Given the description of an element on the screen output the (x, y) to click on. 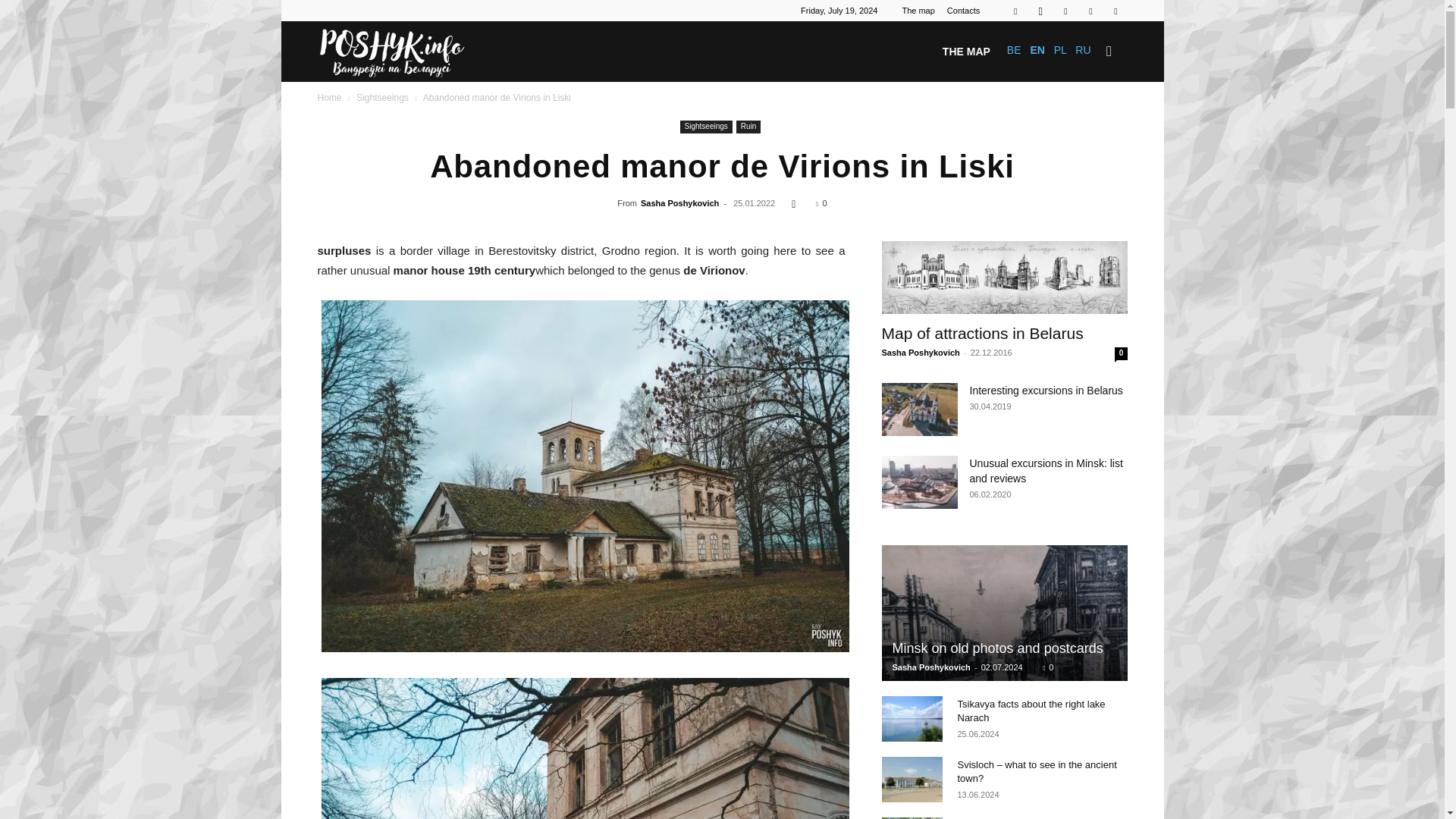
Sasha Poshykovich (679, 203)
Search (1085, 124)
EN (1036, 50)
THE MAP (966, 51)
Youtube (1114, 10)
Facebook (1015, 10)
VKontakte (1090, 10)
English (1036, 50)
Ruin (748, 126)
Instagram (1040, 10)
0 (821, 203)
Contacts (963, 10)
The map (917, 10)
poshyk.info (391, 51)
TikTok (1065, 10)
